Given the description of an element on the screen output the (x, y) to click on. 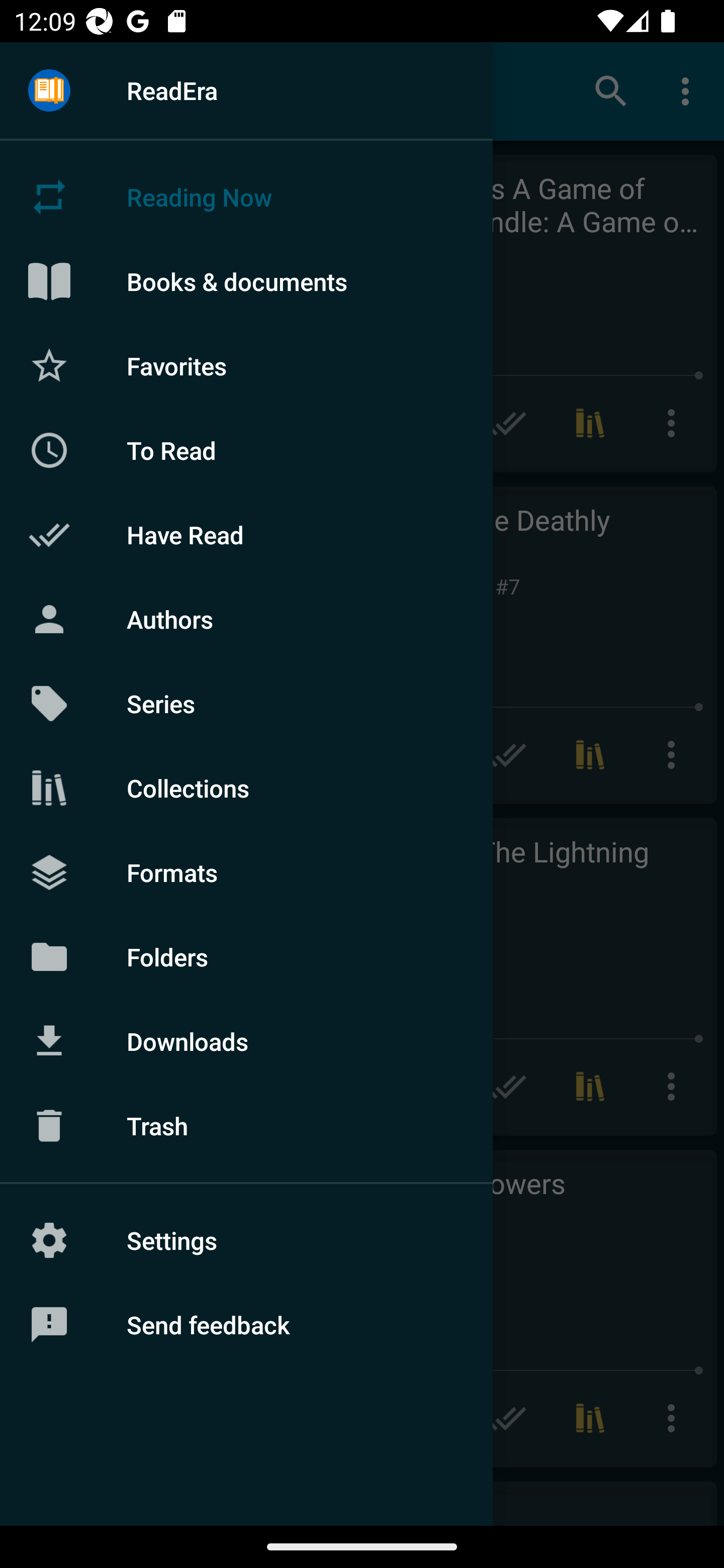
Menu (49, 91)
ReadEra (246, 89)
Search books & documents (611, 90)
More options (688, 90)
Reading Now (246, 197)
Books & documents (246, 281)
Favorites (246, 365)
To Read (246, 449)
Have Read (246, 534)
Authors (246, 619)
Series (246, 703)
Collections (246, 787)
Formats (246, 871)
Folders (246, 956)
Downloads (246, 1040)
Trash (246, 1125)
Settings (246, 1239)
Send feedback (246, 1324)
